Given the description of an element on the screen output the (x, y) to click on. 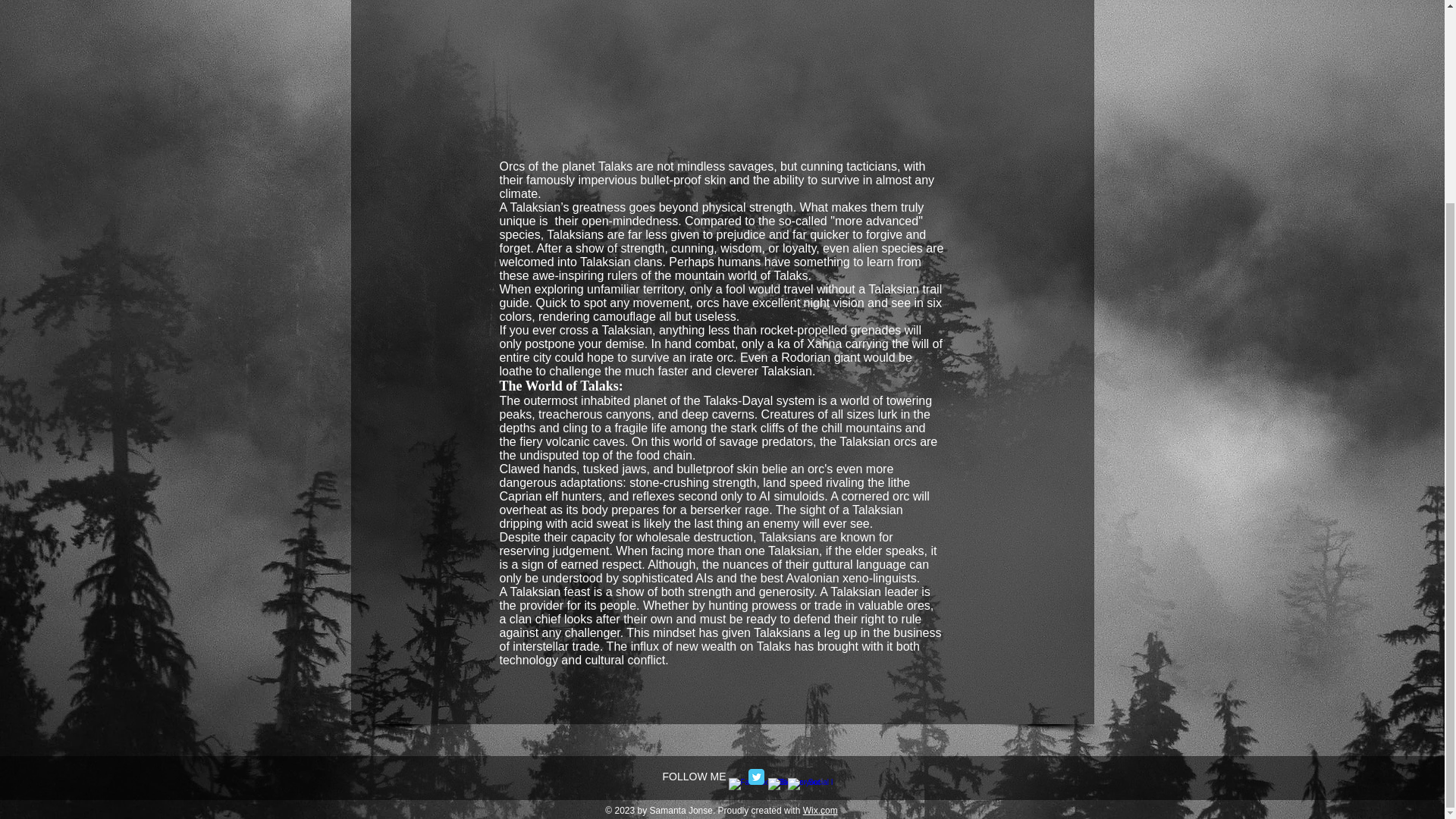
Wix.com (820, 810)
